Given the description of an element on the screen output the (x, y) to click on. 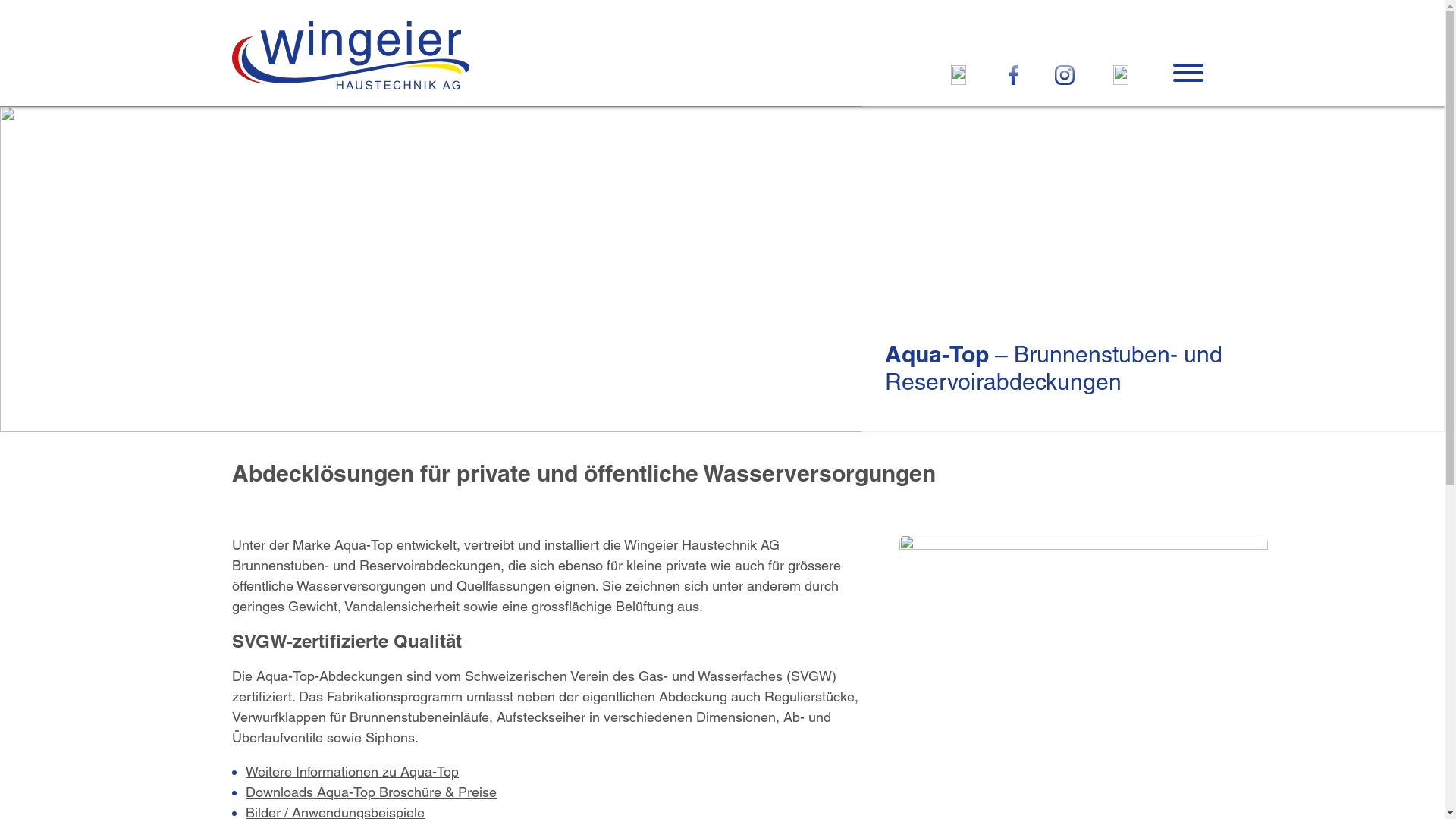
Instagram Element type: hover (1064, 74)
Weitere Informationen zu Aqua-Top Element type: text (351, 771)
Wingeier Haustechnik AG Element type: text (701, 544)
Facebook Element type: hover (1013, 74)
Kontakt Element type: hover (957, 74)
Linkedin Element type: hover (1120, 74)
Schweizerischen Verein des Gas- und Wasserfaches (SVGW) Element type: text (650, 676)
